Given the description of an element on the screen output the (x, y) to click on. 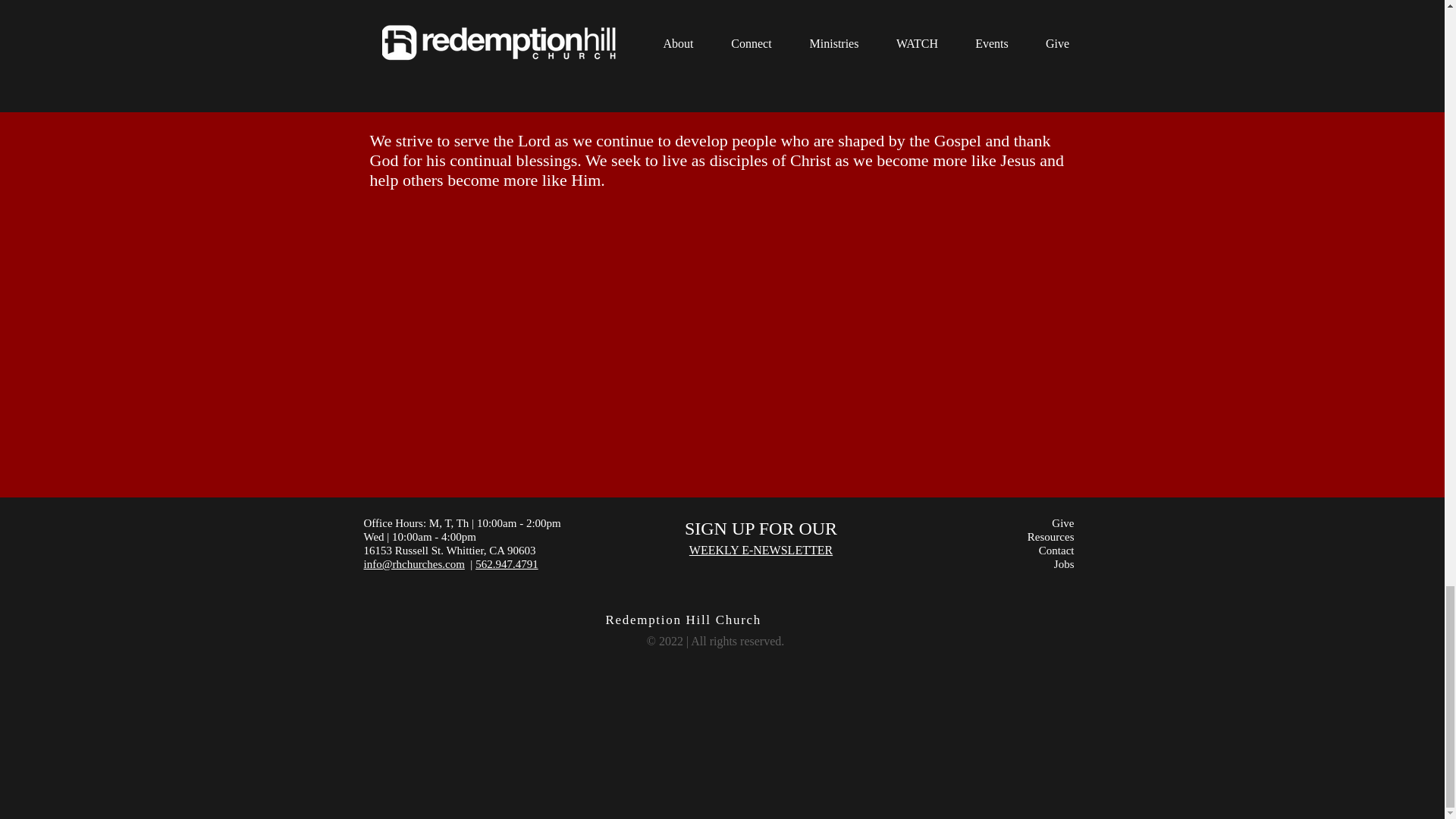
WEEKLY E-NEWSLETTER (760, 549)
Give (1062, 522)
Contact (1056, 550)
Resources (1050, 536)
Jobs (1064, 563)
